Given the description of an element on the screen output the (x, y) to click on. 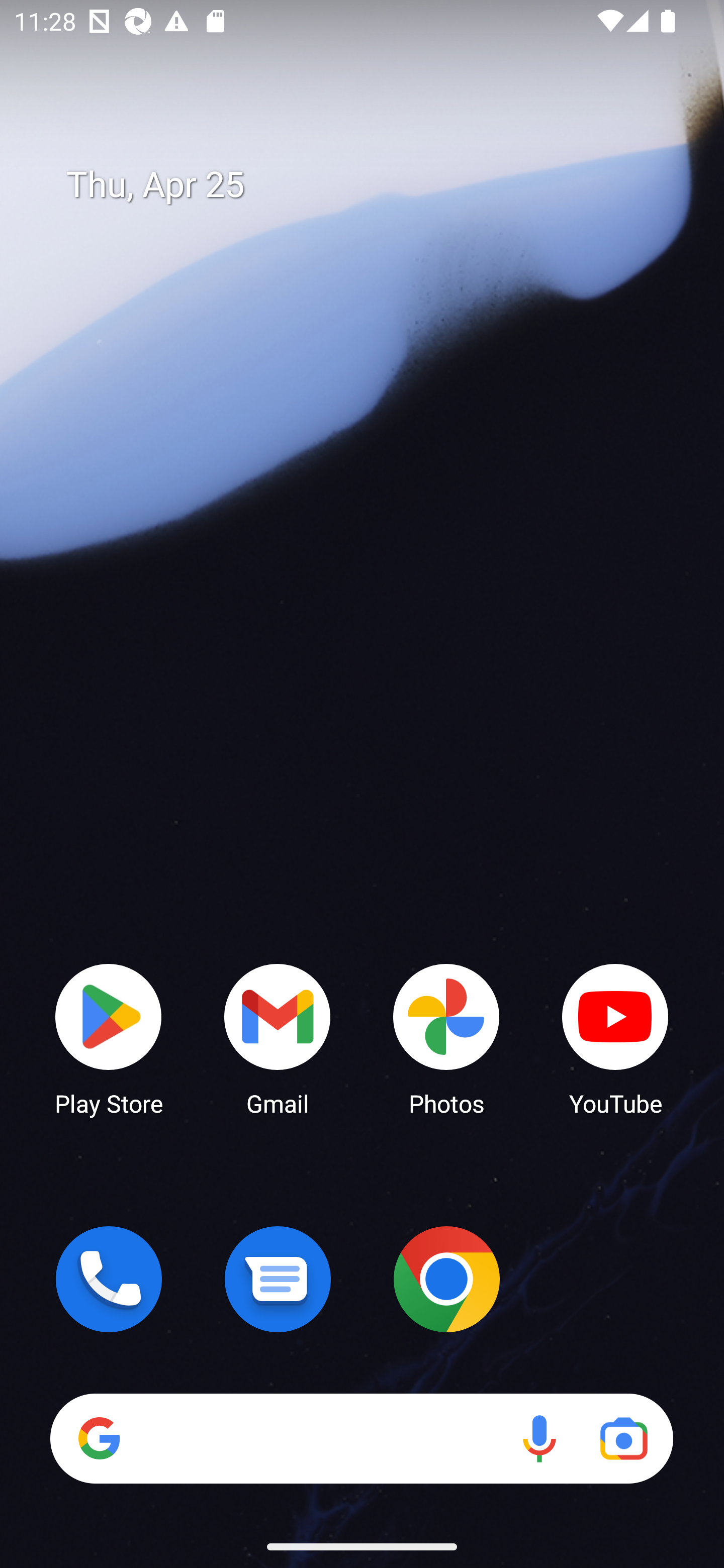
Thu, Apr 25 (375, 184)
Play Store (108, 1038)
Gmail (277, 1038)
Photos (445, 1038)
YouTube (615, 1038)
Phone (108, 1279)
Messages (277, 1279)
Chrome (446, 1279)
Search Voice search Google Lens (361, 1438)
Voice search (539, 1438)
Google Lens (623, 1438)
